Given the description of an element on the screen output the (x, y) to click on. 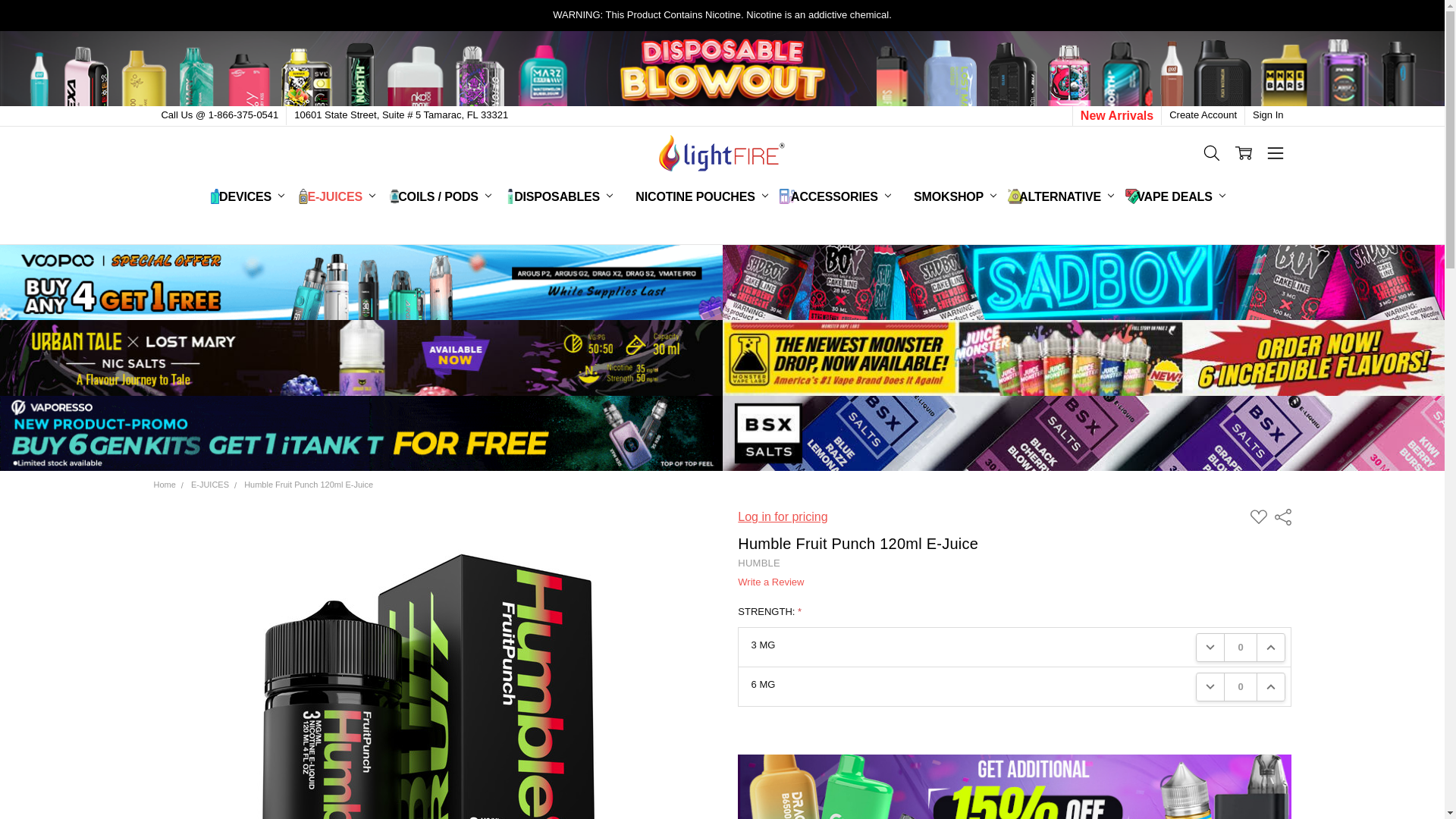
0 (1240, 686)
Show All (741, 196)
0 (1240, 646)
Kanger Wholesale USA (721, 152)
New Arrivals (1116, 115)
Create Account (1202, 115)
DEVICES (251, 196)
E-JUICES (341, 196)
Sign In (1267, 115)
